Given the description of an element on the screen output the (x, y) to click on. 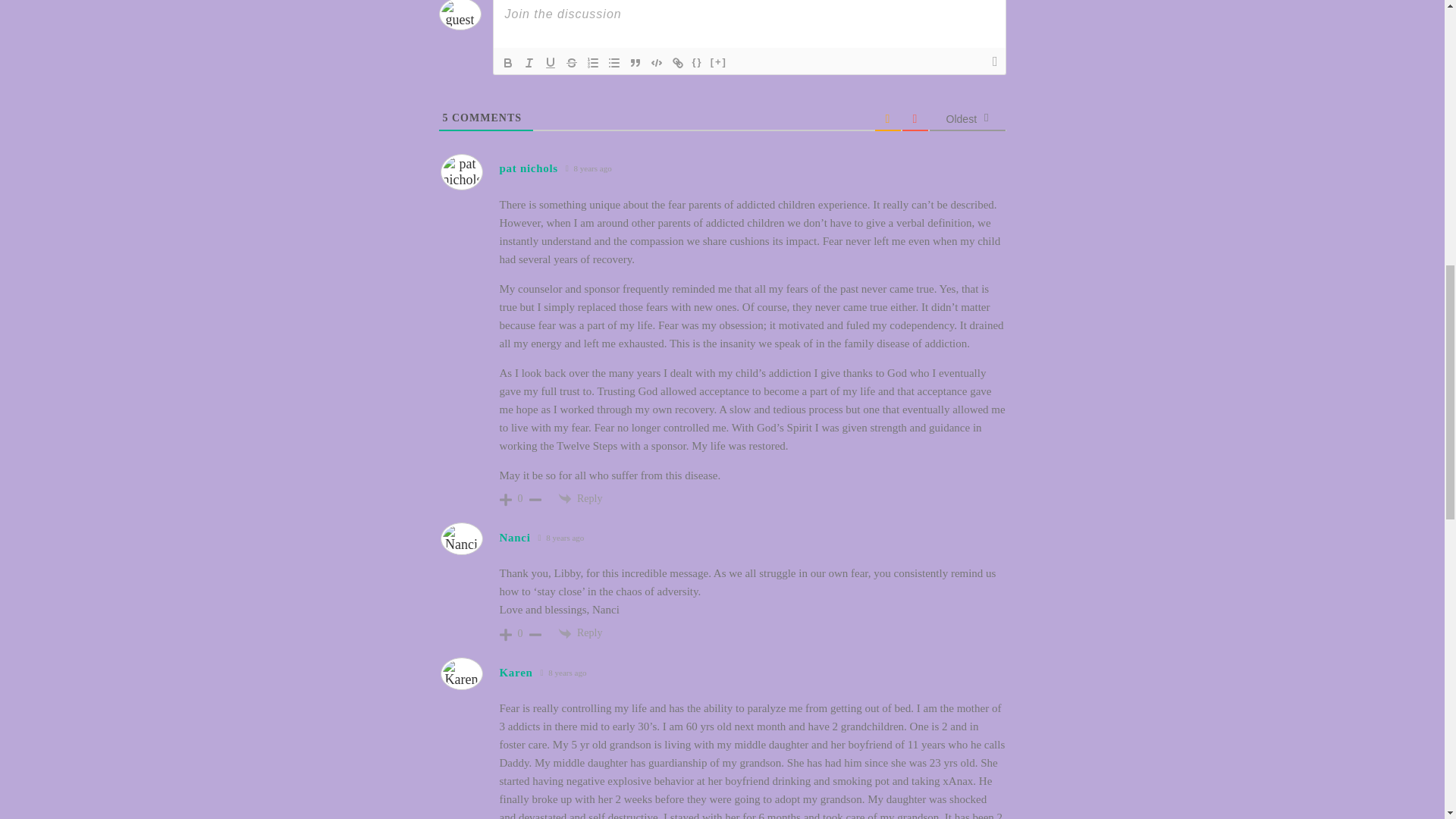
Strike (571, 63)
Blockquote (635, 63)
Ordered List (593, 63)
Bold (507, 63)
Underline (550, 63)
Italic (529, 63)
Unordered List (614, 63)
